Given the description of an element on the screen output the (x, y) to click on. 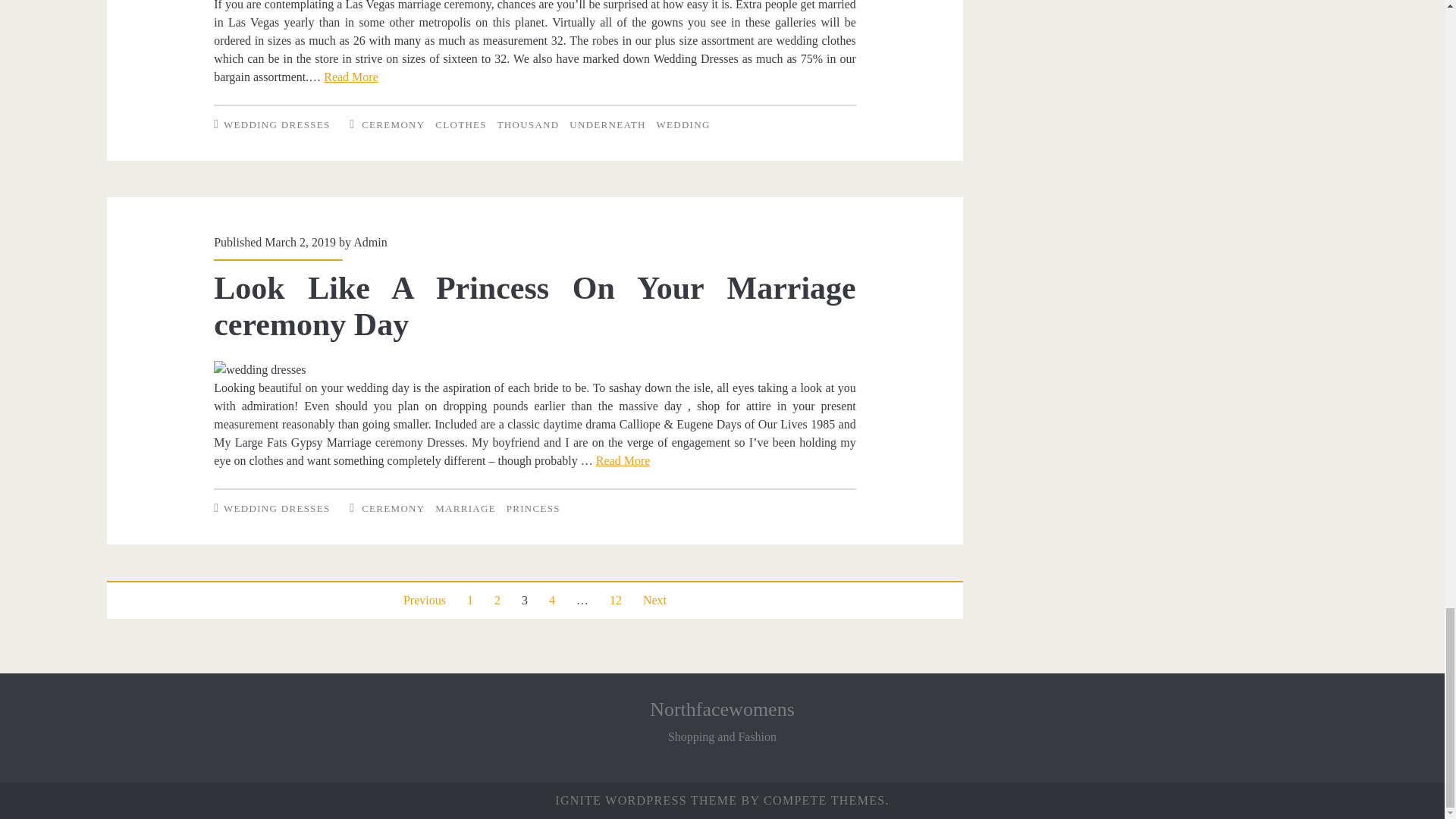
THOUSAND (528, 124)
Read More (350, 76)
CEREMONY (393, 124)
WEDDING DRESSES (277, 124)
CLOTHES (460, 124)
